Given the description of an element on the screen output the (x, y) to click on. 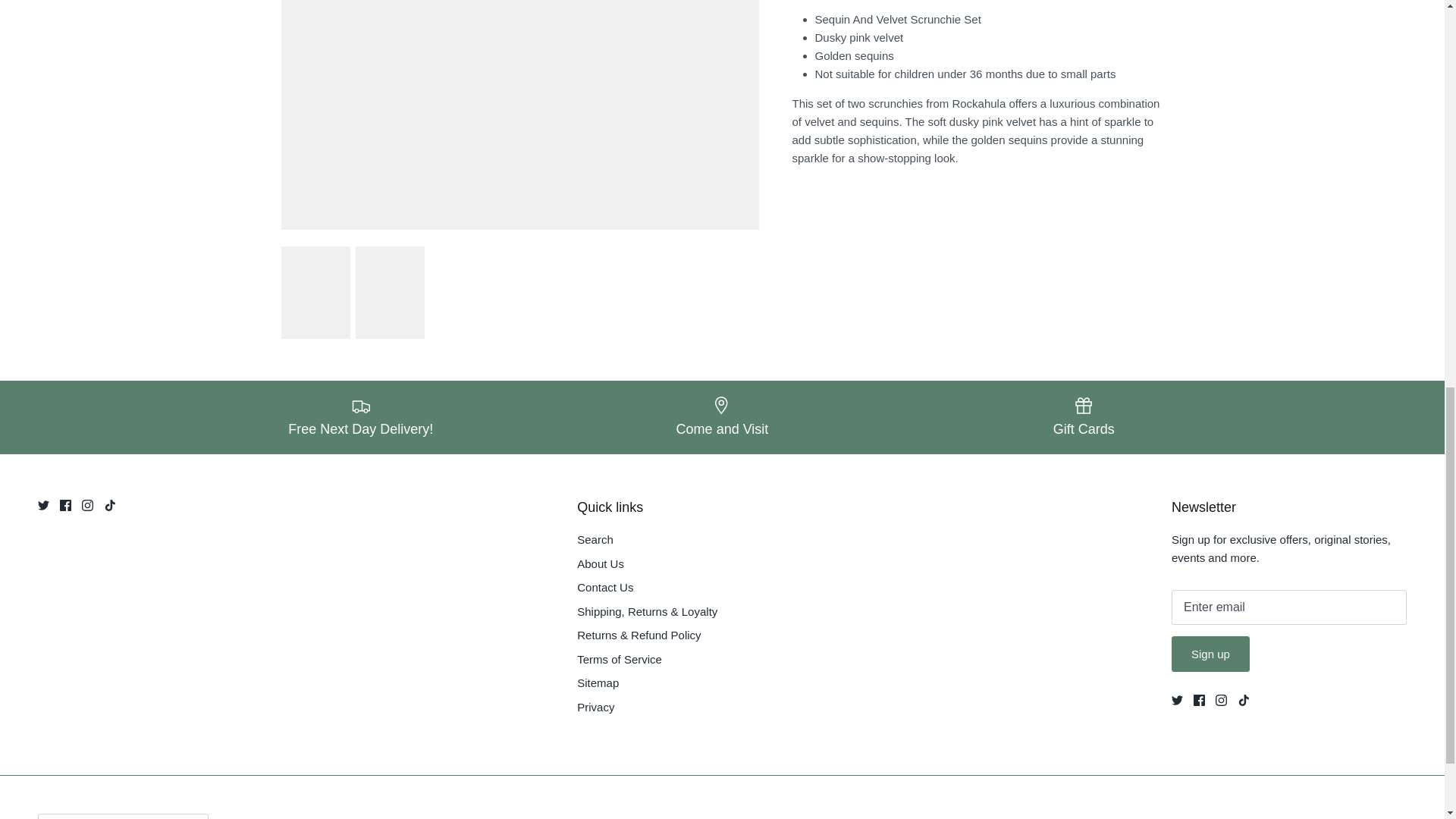
Facebook (65, 505)
Instagram (87, 505)
Instagram (1221, 699)
Twitter (43, 505)
Twitter (1177, 699)
Facebook (1199, 699)
